Given the description of an element on the screen output the (x, y) to click on. 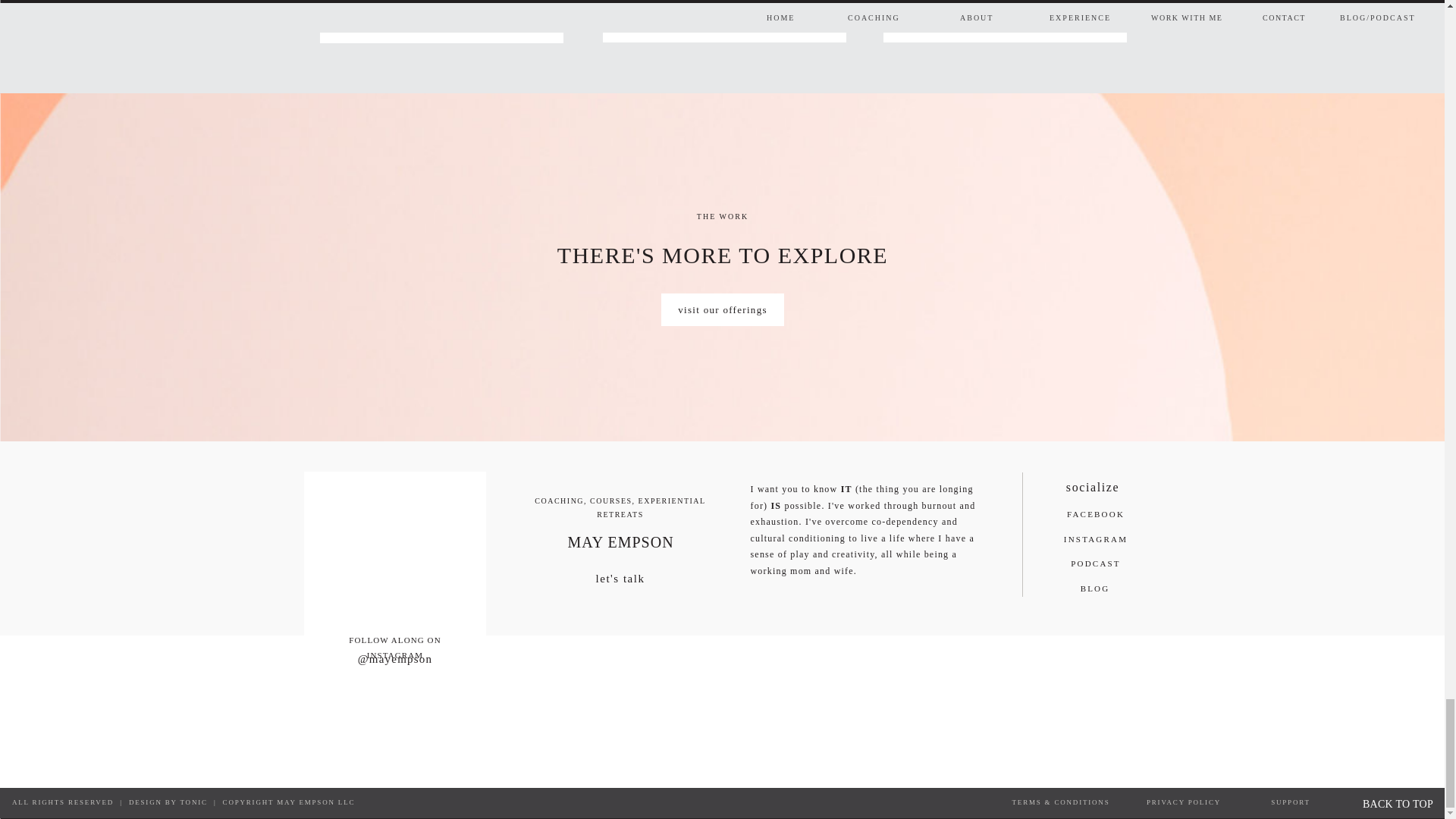
read more (1006, 26)
read more (724, 26)
BLOG (1094, 591)
INSTAGRAM (1096, 542)
THERE'S MORE TO EXPLORE (722, 252)
FACEBOOK (1096, 517)
PODCAST (1096, 567)
visit our offerings (722, 310)
